Given the description of an element on the screen output the (x, y) to click on. 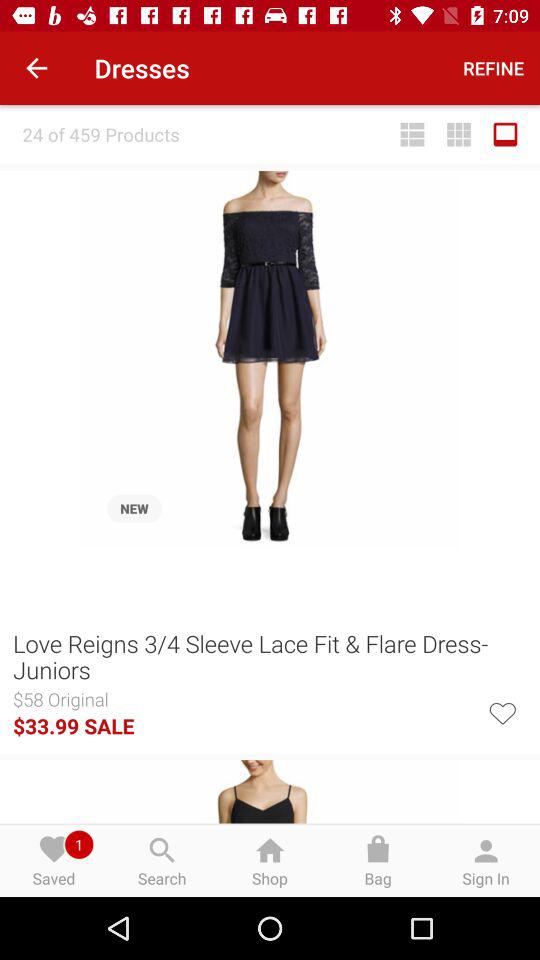
add this product to your favourites (501, 711)
